Given the description of an element on the screen output the (x, y) to click on. 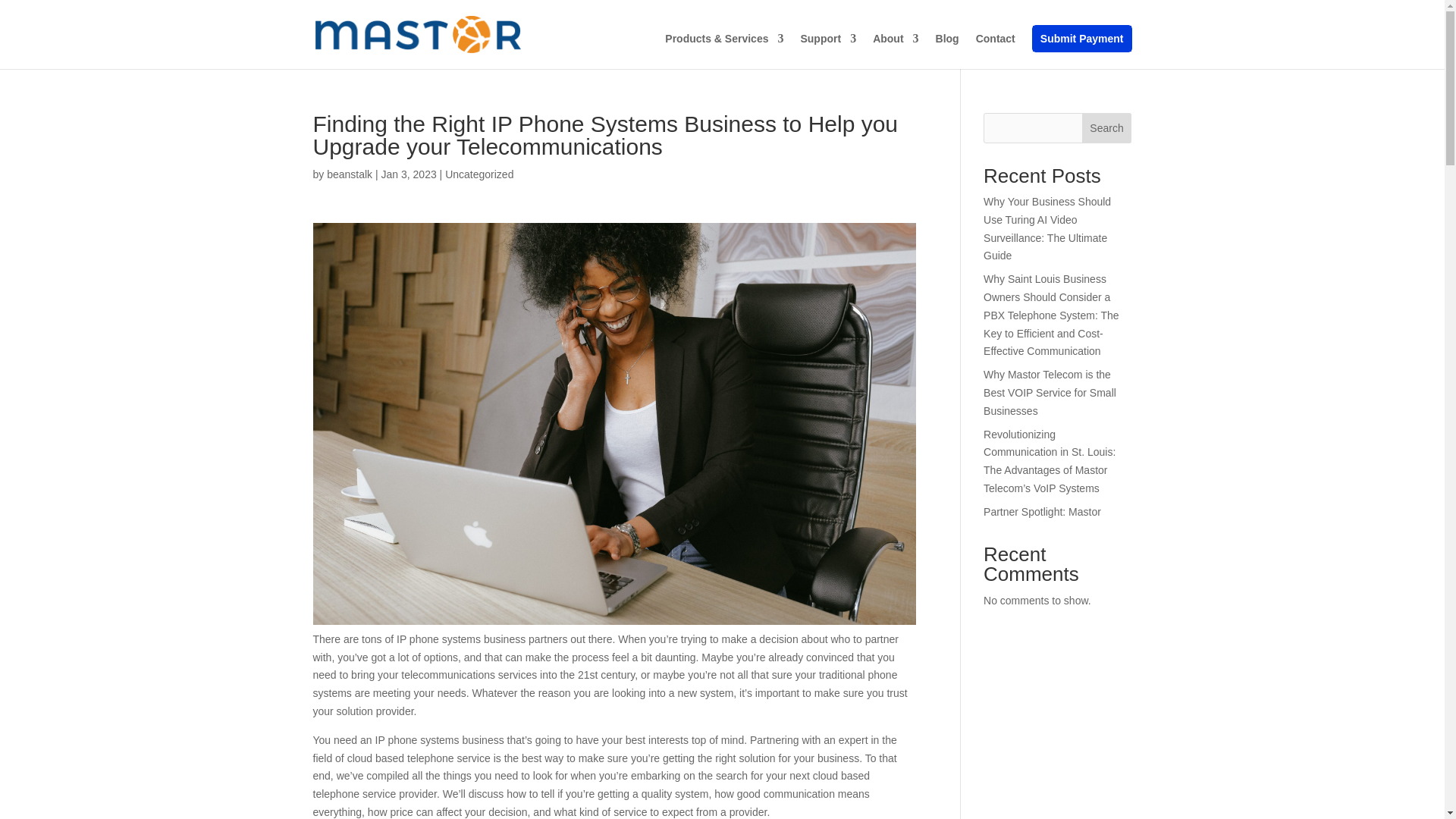
About (895, 50)
Posts by beanstalk (349, 174)
Support (827, 50)
Blog (947, 50)
Submit Payment (1081, 38)
Uncategorized (479, 174)
beanstalk (349, 174)
Contact (994, 50)
